Given the description of an element on the screen output the (x, y) to click on. 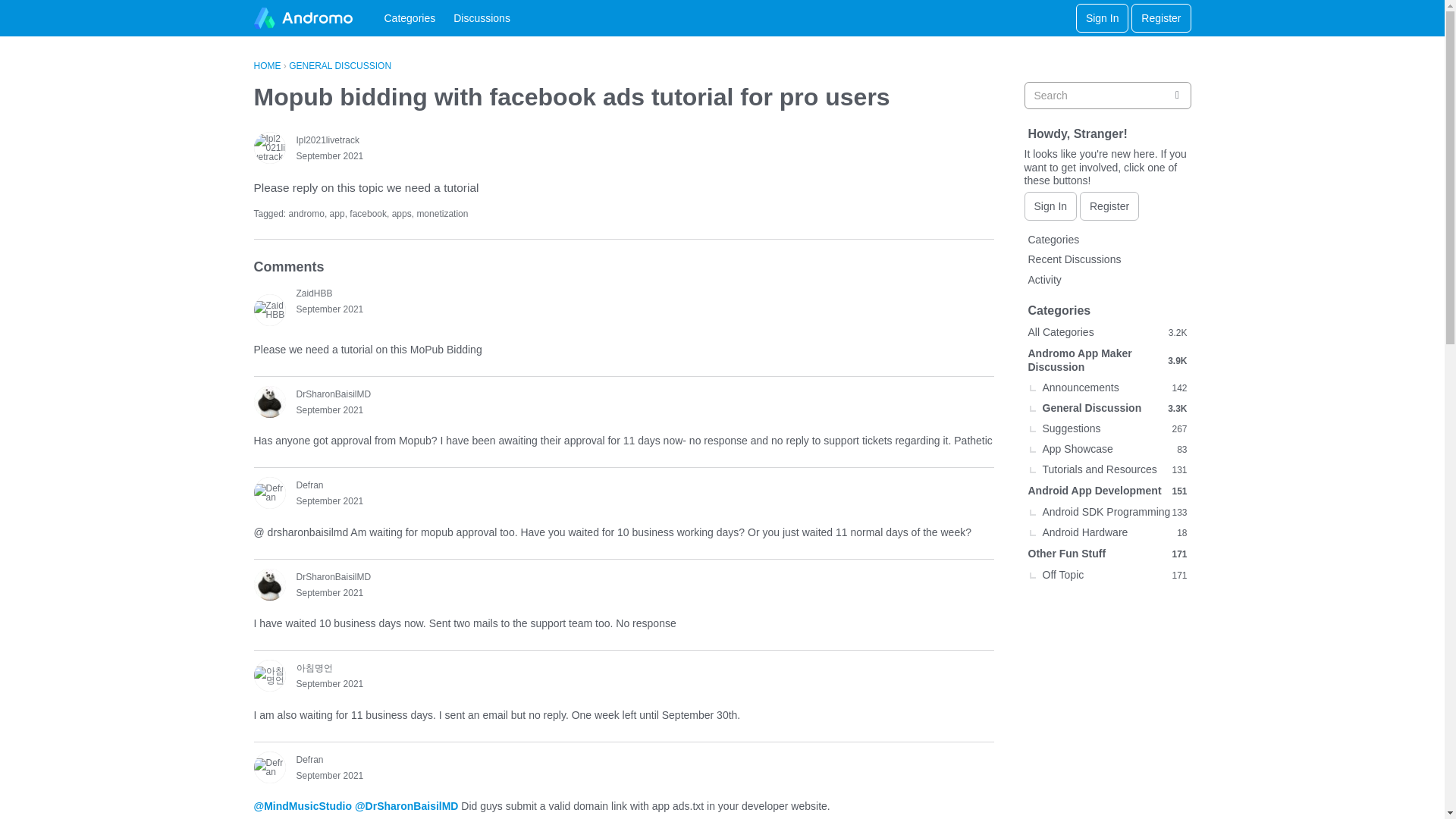
andromo (306, 213)
DrSharonBaisilMD (269, 584)
Sign In (1102, 18)
September 2021 (328, 593)
September 20, 2021 5:21PM (328, 593)
September 23, 2021 5:53AM (328, 775)
Defran (269, 492)
Go (1177, 94)
Discussions (481, 17)
September 18, 2021 4:50PM (328, 409)
